Given the description of an element on the screen output the (x, y) to click on. 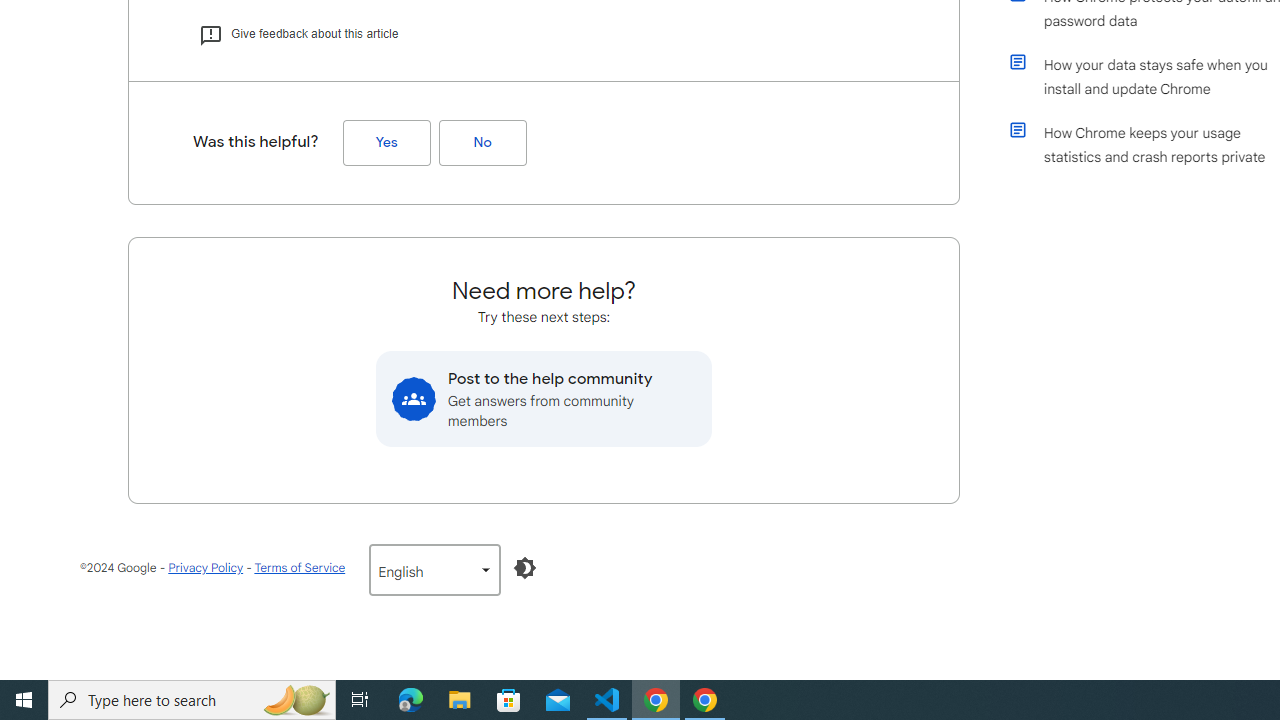
Privacy Policy (205, 567)
Yes (Was this helpful?) (386, 143)
Terms of Service (299, 567)
Enable Dark Mode (525, 567)
No (Was this helpful?) (482, 143)
Give feedback about this article (298, 33)
